Given the description of an element on the screen output the (x, y) to click on. 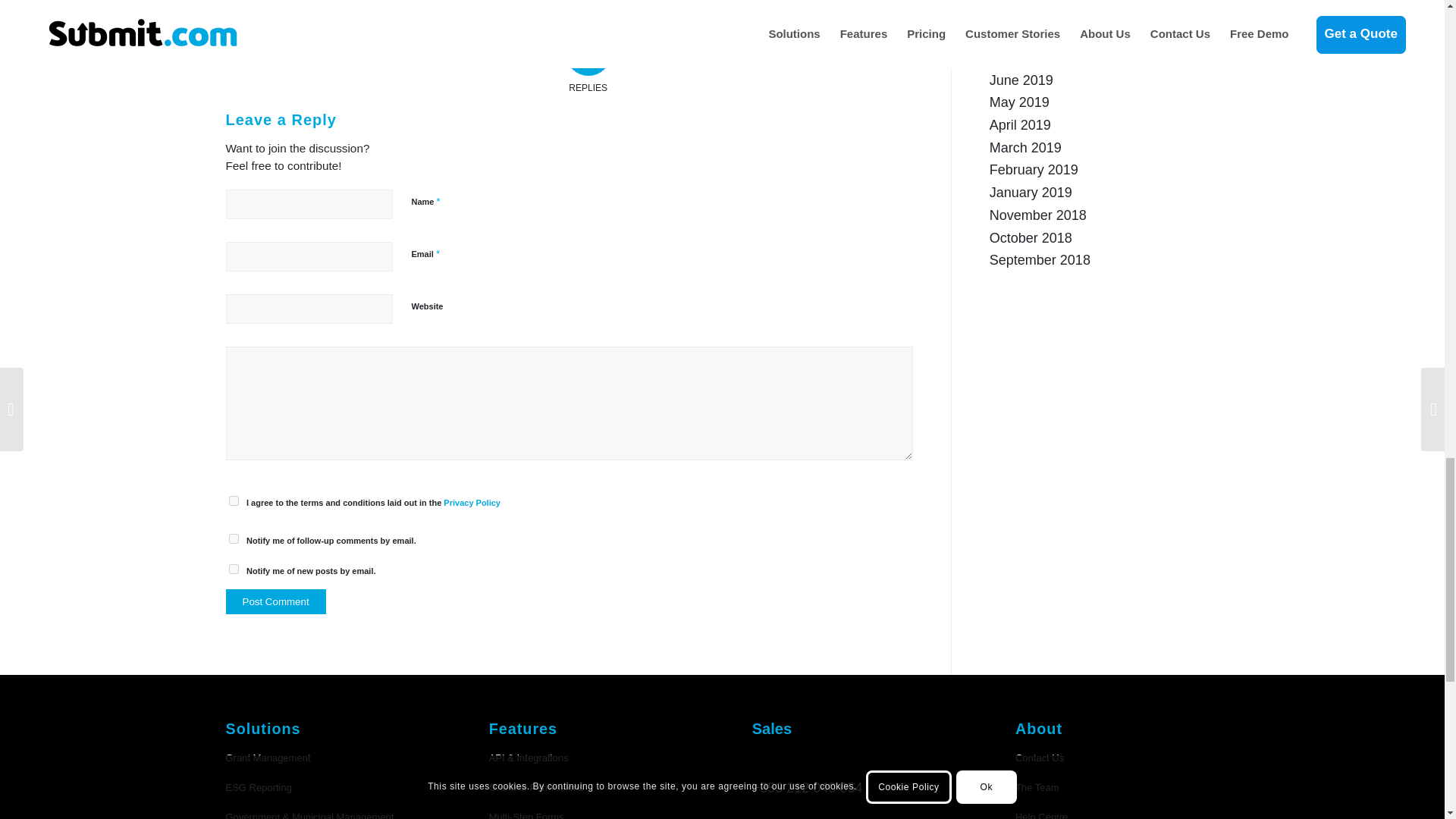
Post Comment (275, 601)
subscribe (233, 569)
subscribe (233, 538)
yes (233, 501)
